Given the description of an element on the screen output the (x, y) to click on. 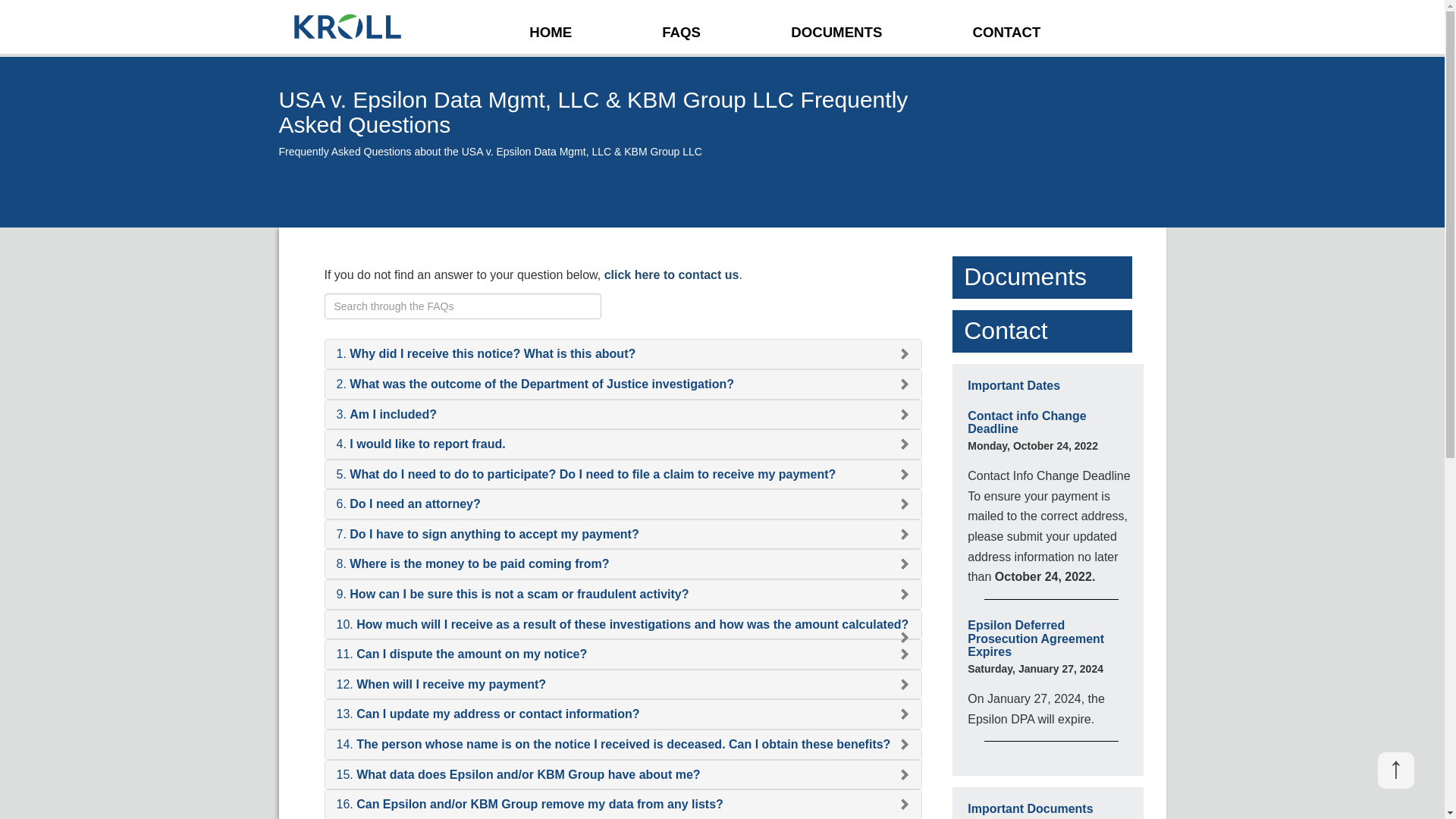
HOME Element type: text (550, 32)
Documents Element type: text (1024, 276)
12. When will I receive my payment? Element type: text (441, 683)
DOCUMENTS Element type: text (835, 32)
11. Can I dispute the amount on my notice? Element type: text (461, 653)
8. Where is the money to be paid coming from? Element type: text (472, 563)
4. I would like to report fraud. Element type: text (420, 443)
Contact Element type: text (1005, 330)
6. Do I need an attorney? Element type: text (408, 503)
CONTACT Element type: text (1006, 32)
1. Why did I receive this notice? What is this about? Element type: text (486, 353)
click here to contact us Element type: text (671, 274)
  Element type: text (433, 32)
7. Do I have to sign anything to accept my payment? Element type: text (487, 533)
15. What data does Epsilon and/or KBM Group have about me? Element type: text (518, 774)
3. Am I included? Element type: text (386, 413)
13. Can I update my address or contact information? Element type: text (488, 713)
FAQS Element type: text (681, 32)
